Given the description of an element on the screen output the (x, y) to click on. 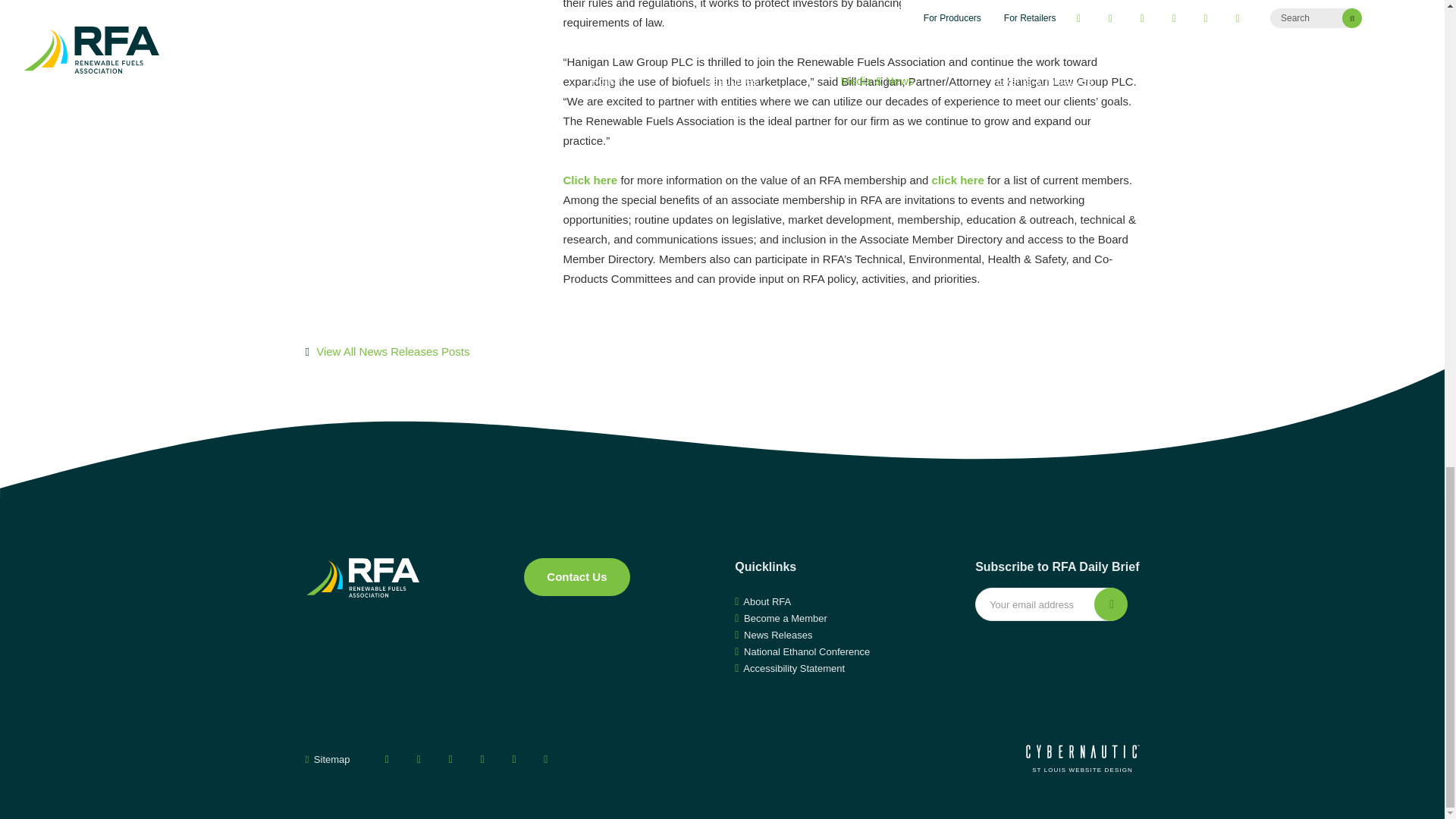
Twitter (418, 758)
Home (361, 577)
YouTube (450, 758)
Facebook (386, 758)
